Given the description of an element on the screen output the (x, y) to click on. 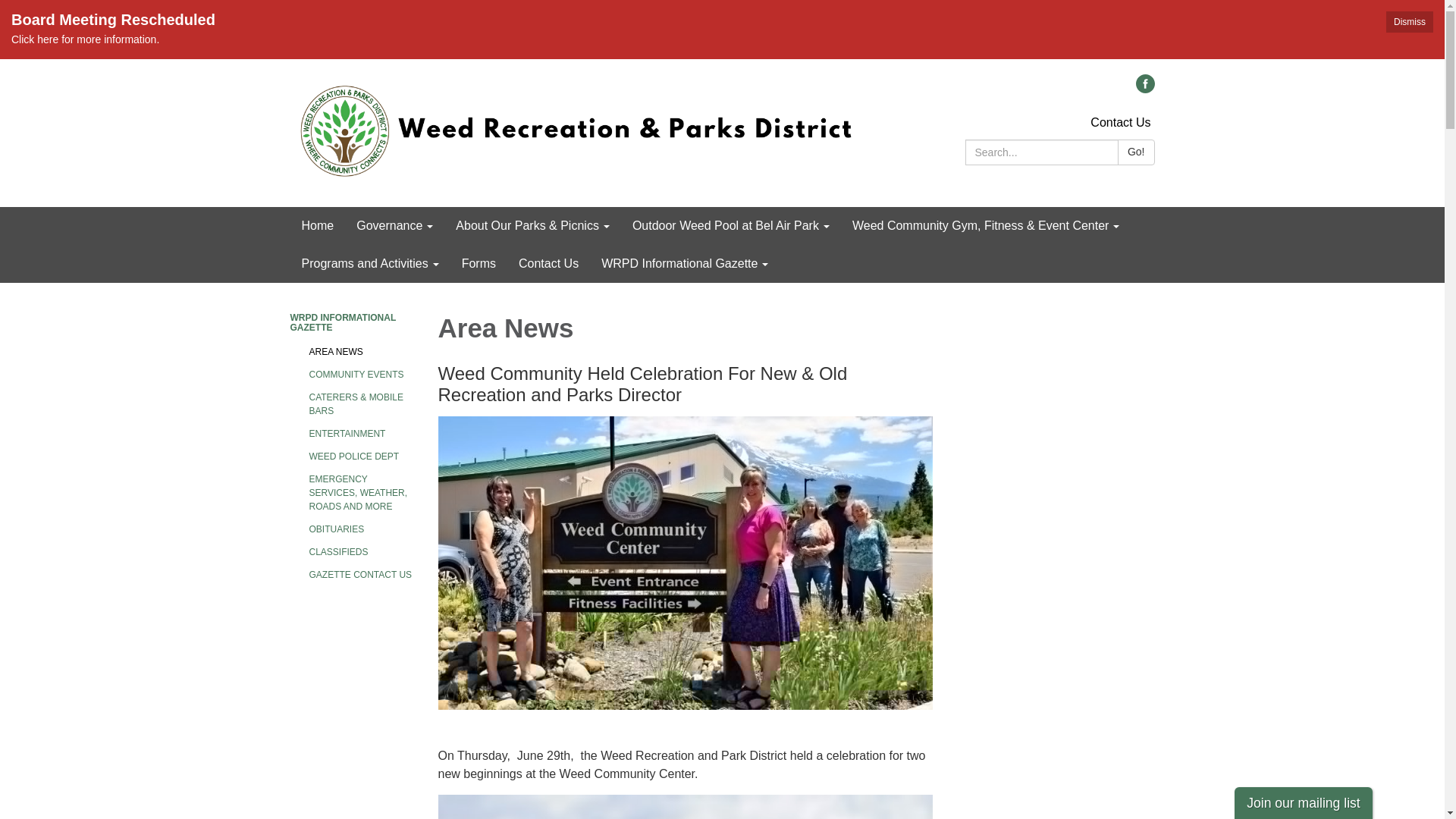
Dismiss (1409, 21)
Governance (394, 225)
Programs and Activities (369, 263)
Home (317, 225)
Go! (1136, 152)
Outdoor Weed Pool at Bel Air Park (731, 225)
Contact Us (1119, 122)
Board Meeting Rescheduled (721, 19)
